Given the description of an element on the screen output the (x, y) to click on. 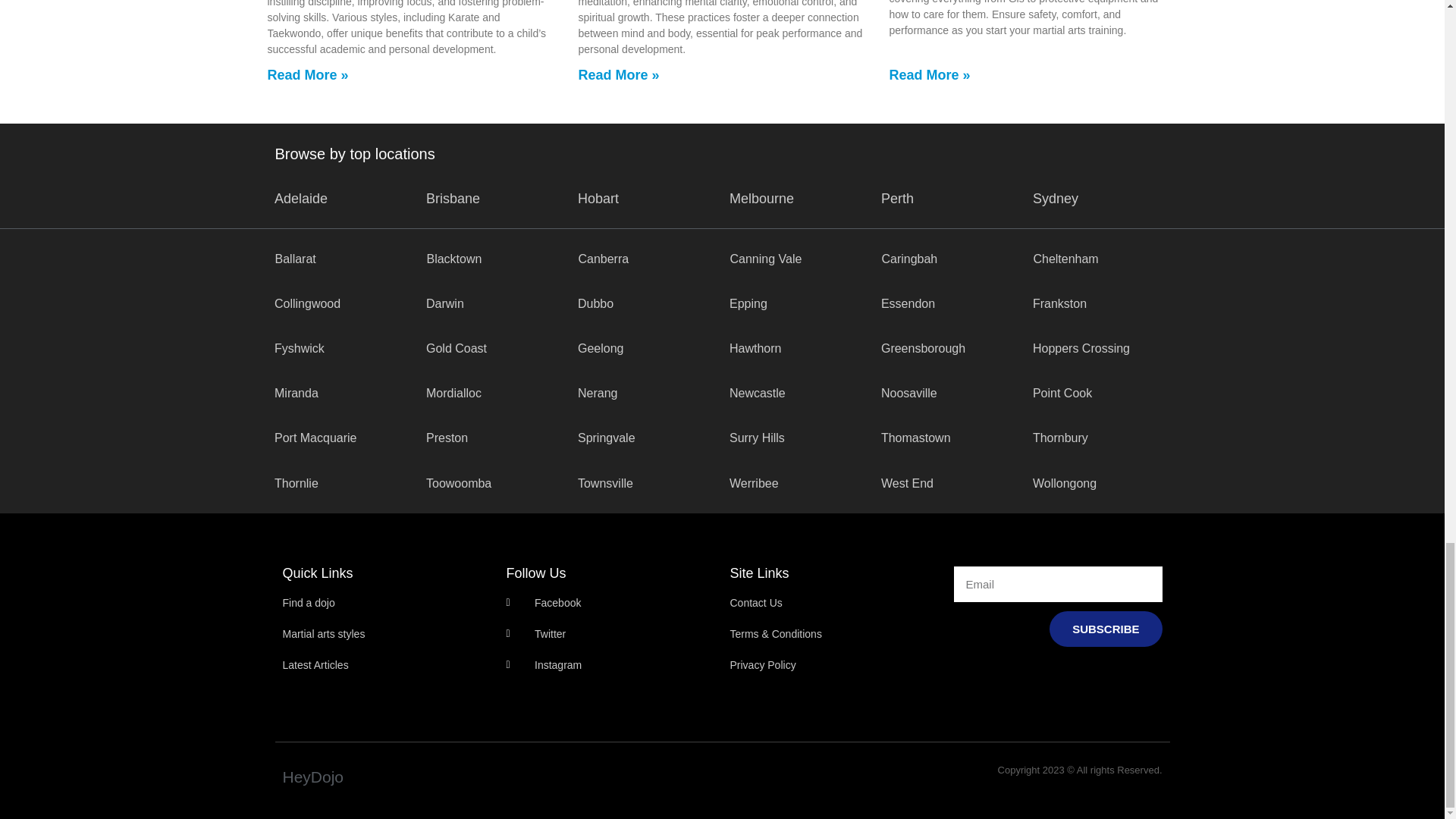
Dojos near Hobart (598, 198)
Melbourne (761, 198)
Perth (897, 198)
Dojos near Melbourne (761, 198)
Dojos near Adelaide (301, 198)
Dojos near Caringbah (908, 258)
Dojos near Canning Vale (765, 258)
Hobart (598, 198)
Dojos near Canning (603, 258)
Dojos near Sydney (1055, 198)
